Given the description of an element on the screen output the (x, y) to click on. 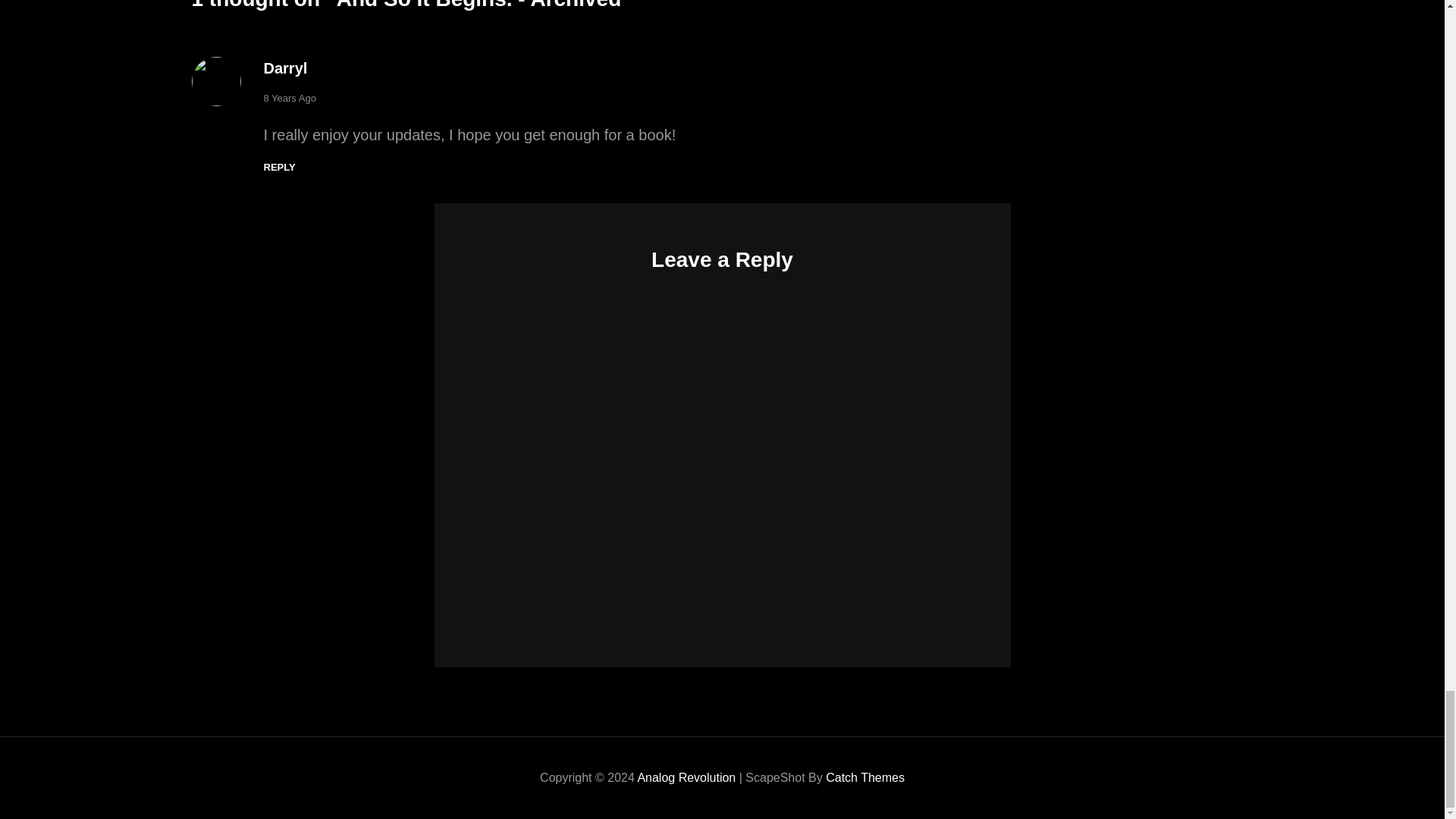
8 Years Ago (289, 98)
REPLY (279, 166)
Analog Revolution (686, 777)
Catch Themes (864, 777)
